Given the description of an element on the screen output the (x, y) to click on. 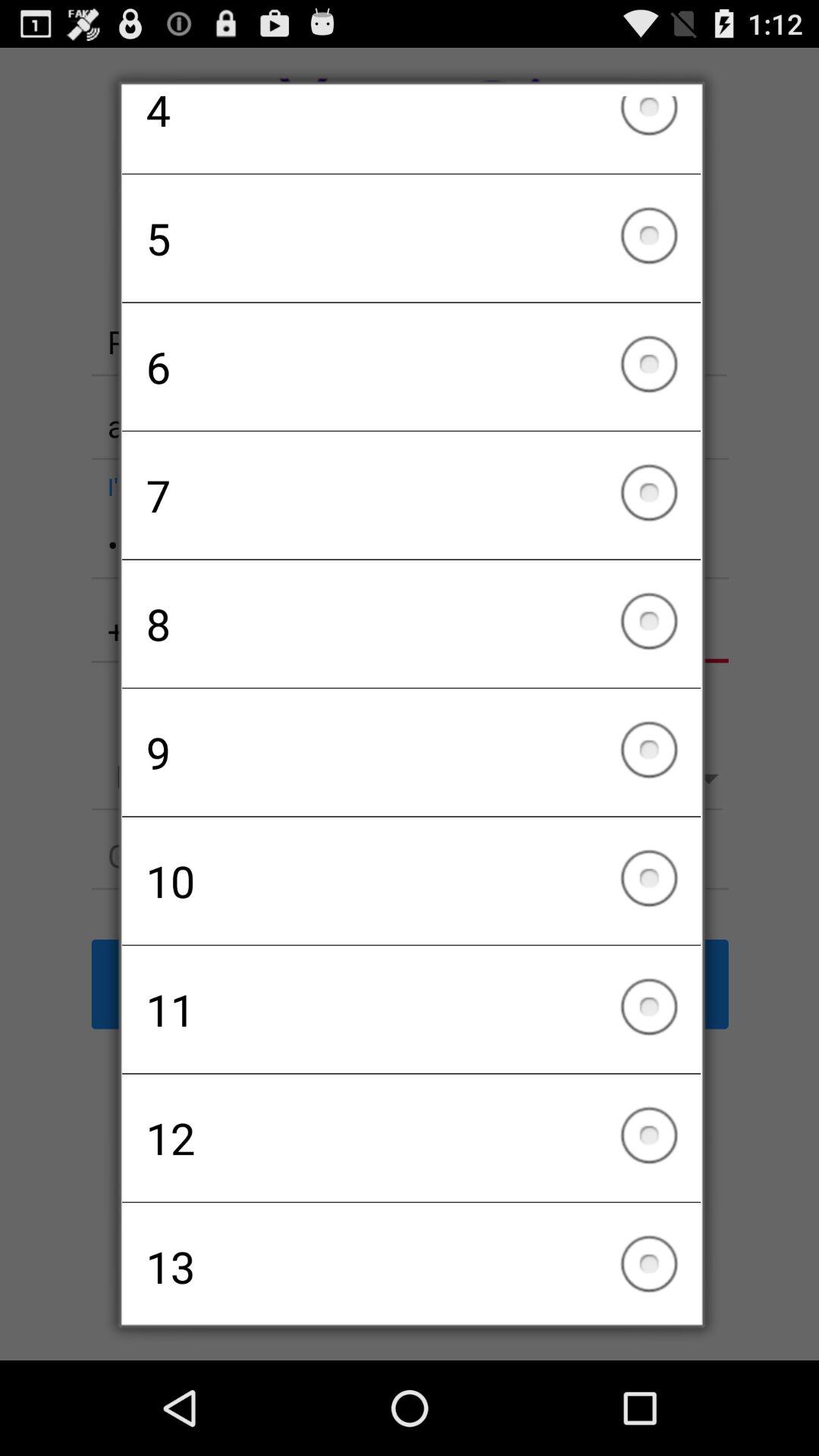
launch the icon above the 5 (411, 134)
